Given the description of an element on the screen output the (x, y) to click on. 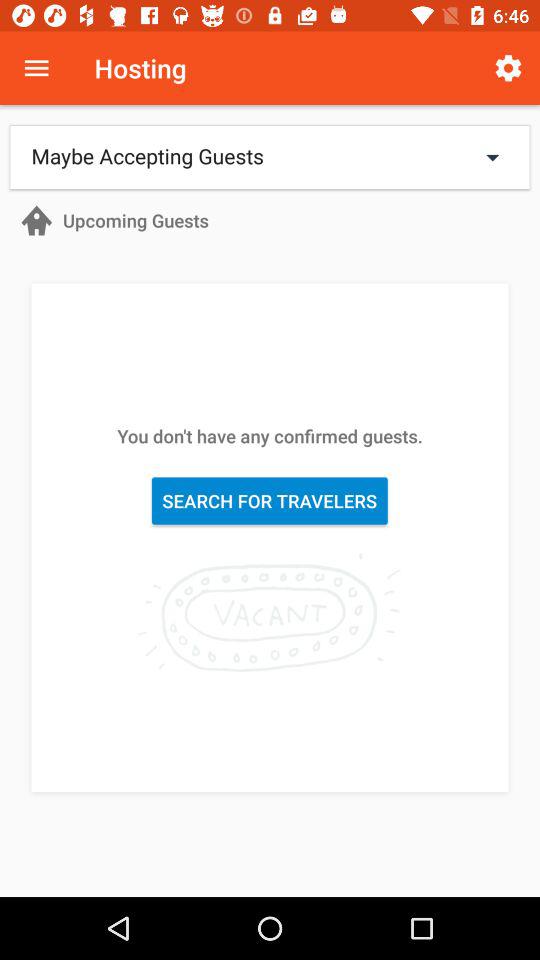
launch the icon above maybe accepting guests icon (36, 68)
